Given the description of an element on the screen output the (x, y) to click on. 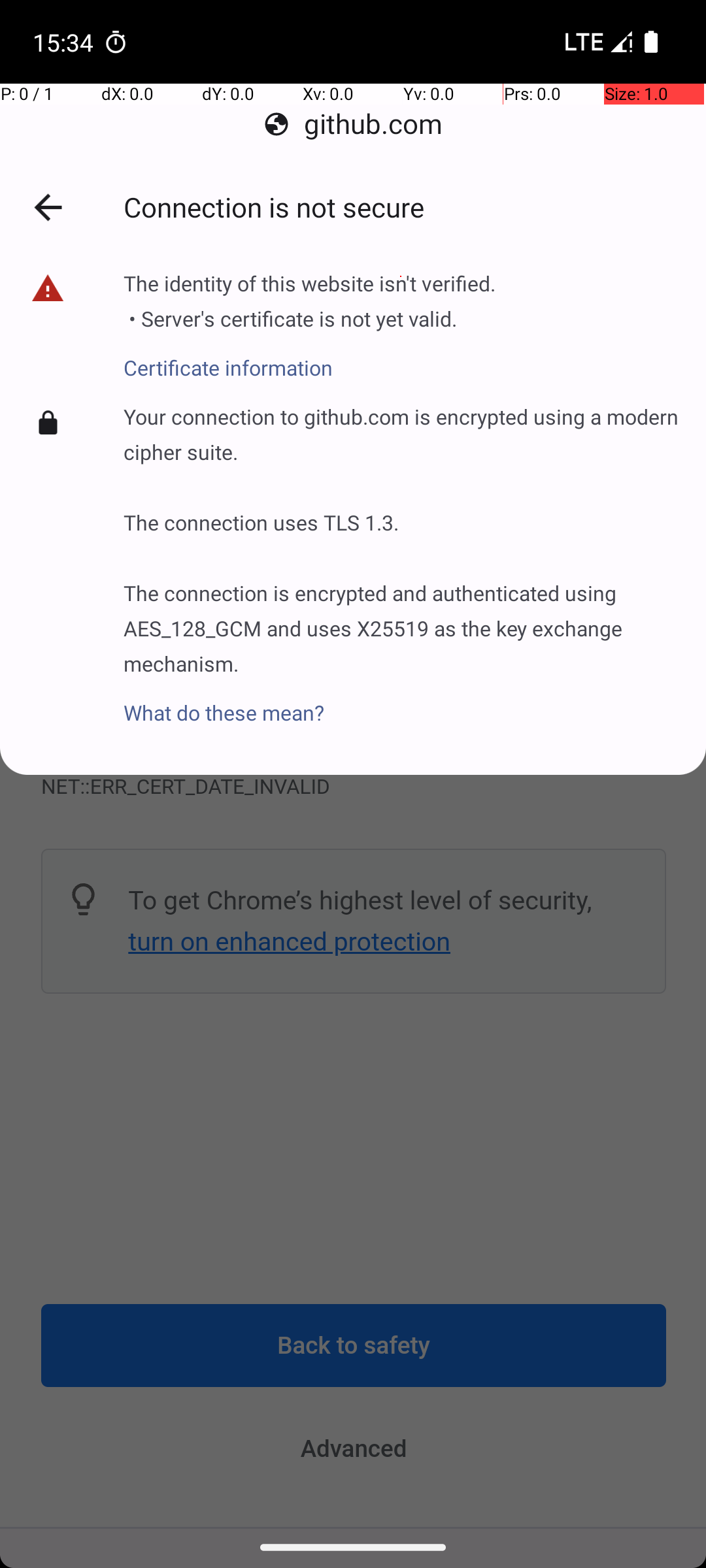
The identity of this website isn't verified.
 • Server's certificate is not yet valid. Element type: android.widget.TextView (311, 305)
Certificate information Element type: android.widget.TextView (311, 359)
Your connection to github.com is encrypted using a modern cipher suite.

The connection uses TLS 1.3.

The connection is encrypted and authenticated using AES_128_GCM and uses X25519 as the key exchange mechanism. Element type: android.widget.TextView (399, 536)
What do these mean? Element type: android.widget.TextView (399, 694)
